Given the description of an element on the screen output the (x, y) to click on. 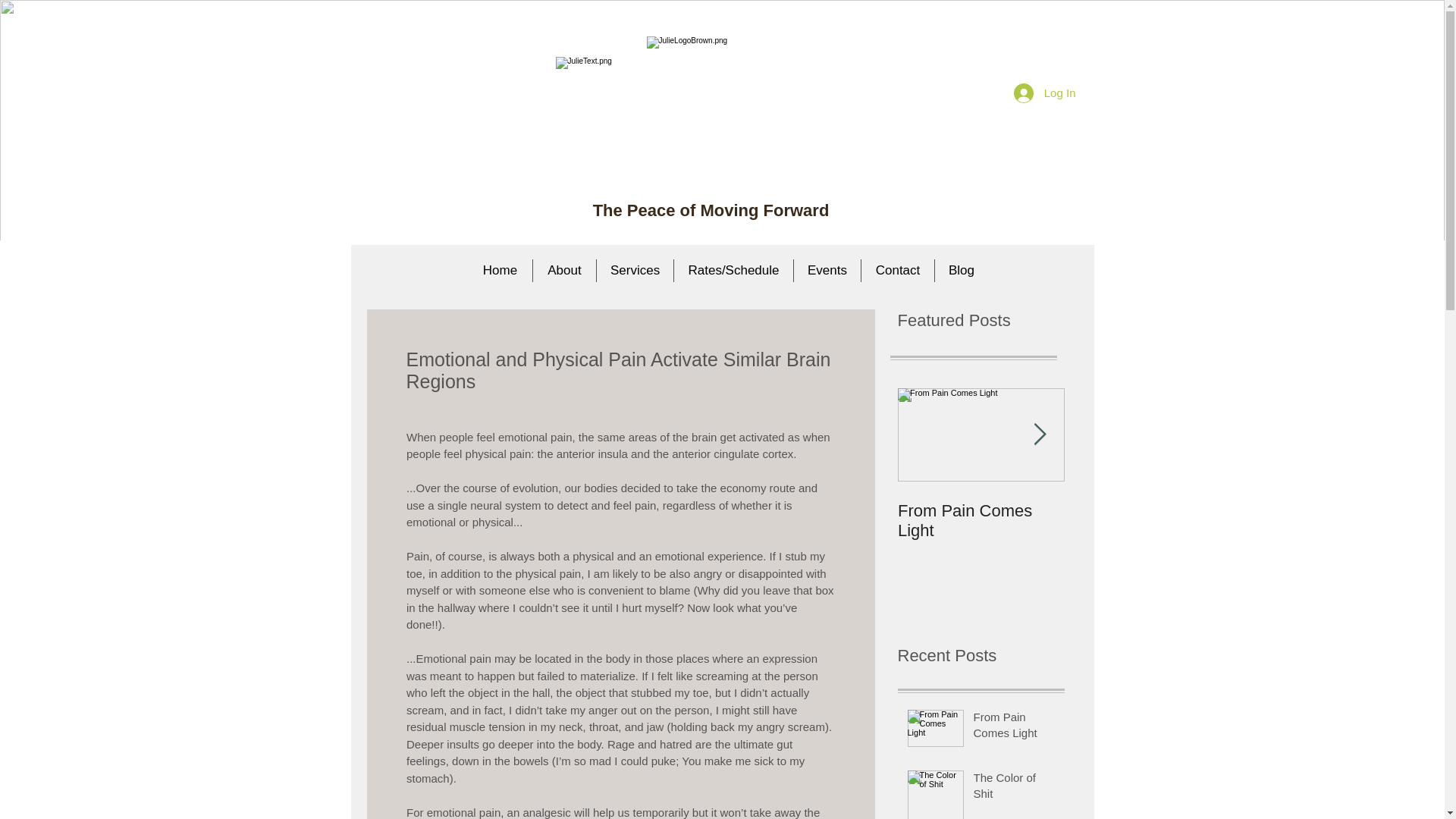
The Color of Shit (1147, 510)
From Pain Comes Light (981, 520)
The Color of Shit (1014, 788)
From Pain Comes Light (1014, 727)
Log In (1044, 92)
Home (499, 270)
